Given the description of an element on the screen output the (x, y) to click on. 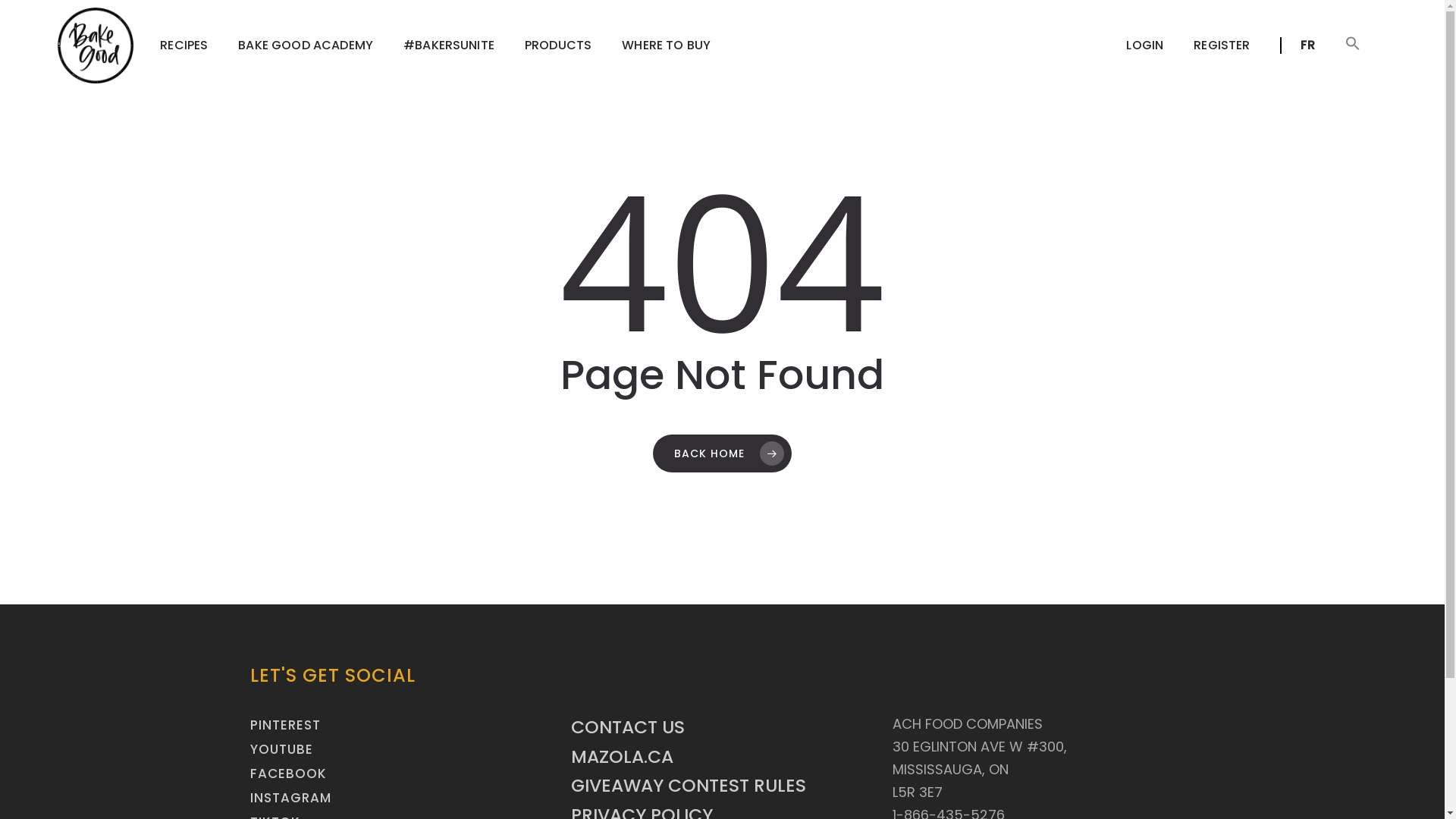
REGISTER Element type: text (1221, 45)
#BAKERSUNITE Element type: text (448, 45)
GIVEAWAY CONTEST RULES Element type: text (688, 784)
BAKE GOOD ACADEMY Element type: text (305, 45)
CONTACT US Element type: text (627, 726)
MAZOLA.CA Element type: text (622, 755)
PRODUCTS Element type: text (557, 45)
FACEBOOK Element type: text (288, 773)
WHERE TO BUY Element type: text (665, 45)
PINTEREST Element type: text (285, 724)
INSTAGRAM Element type: text (290, 797)
FR Element type: text (1297, 45)
RECIPES Element type: text (183, 45)
BACK HOME Element type: text (721, 452)
YOUTUBE Element type: text (281, 749)
LOGIN Element type: text (1144, 45)
